Given the description of an element on the screen output the (x, y) to click on. 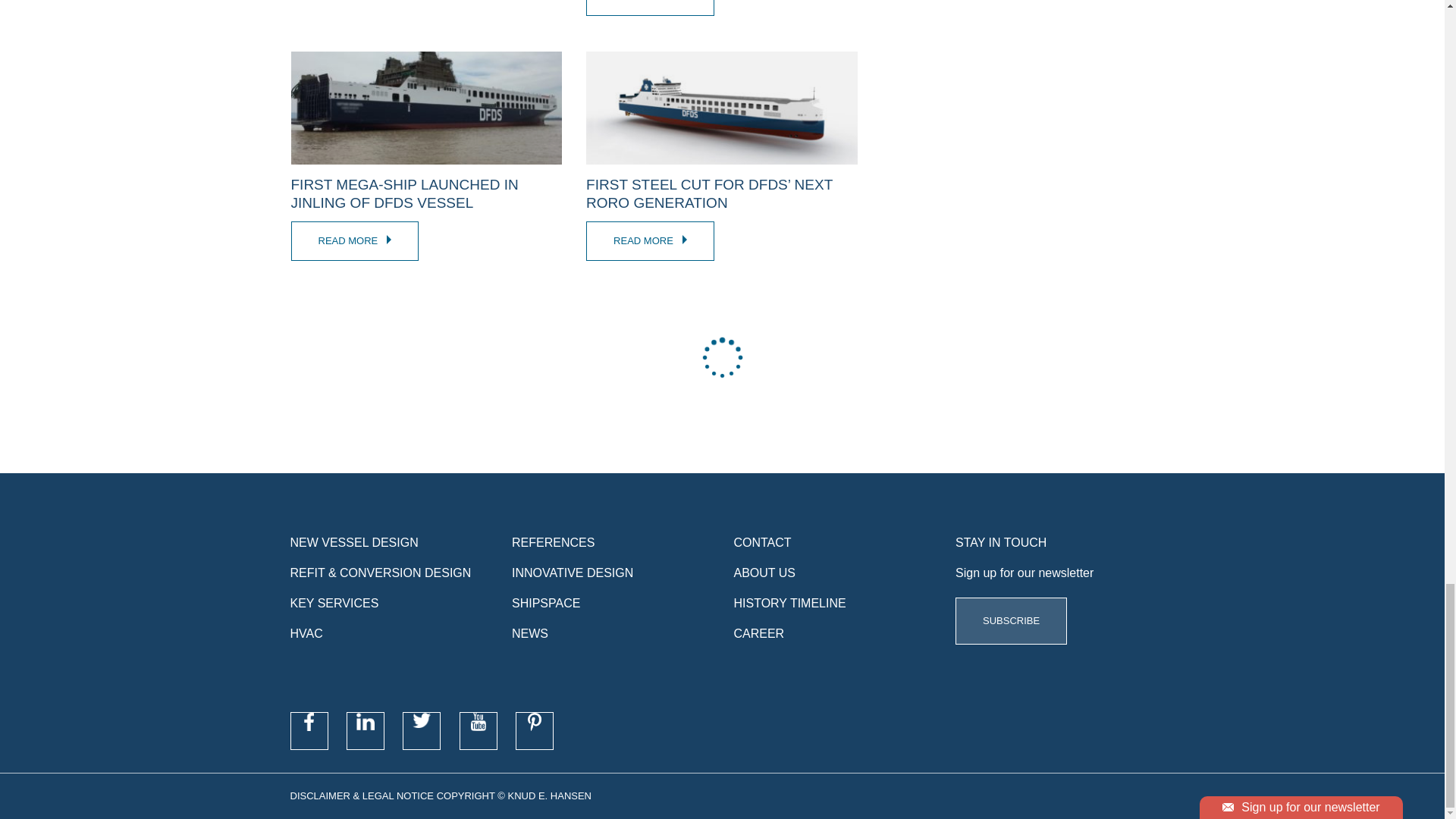
NEW VESSEL DESIGN (353, 542)
READ MORE (355, 241)
READ MORE (650, 7)
READ MORE (650, 241)
